Given the description of an element on the screen output the (x, y) to click on. 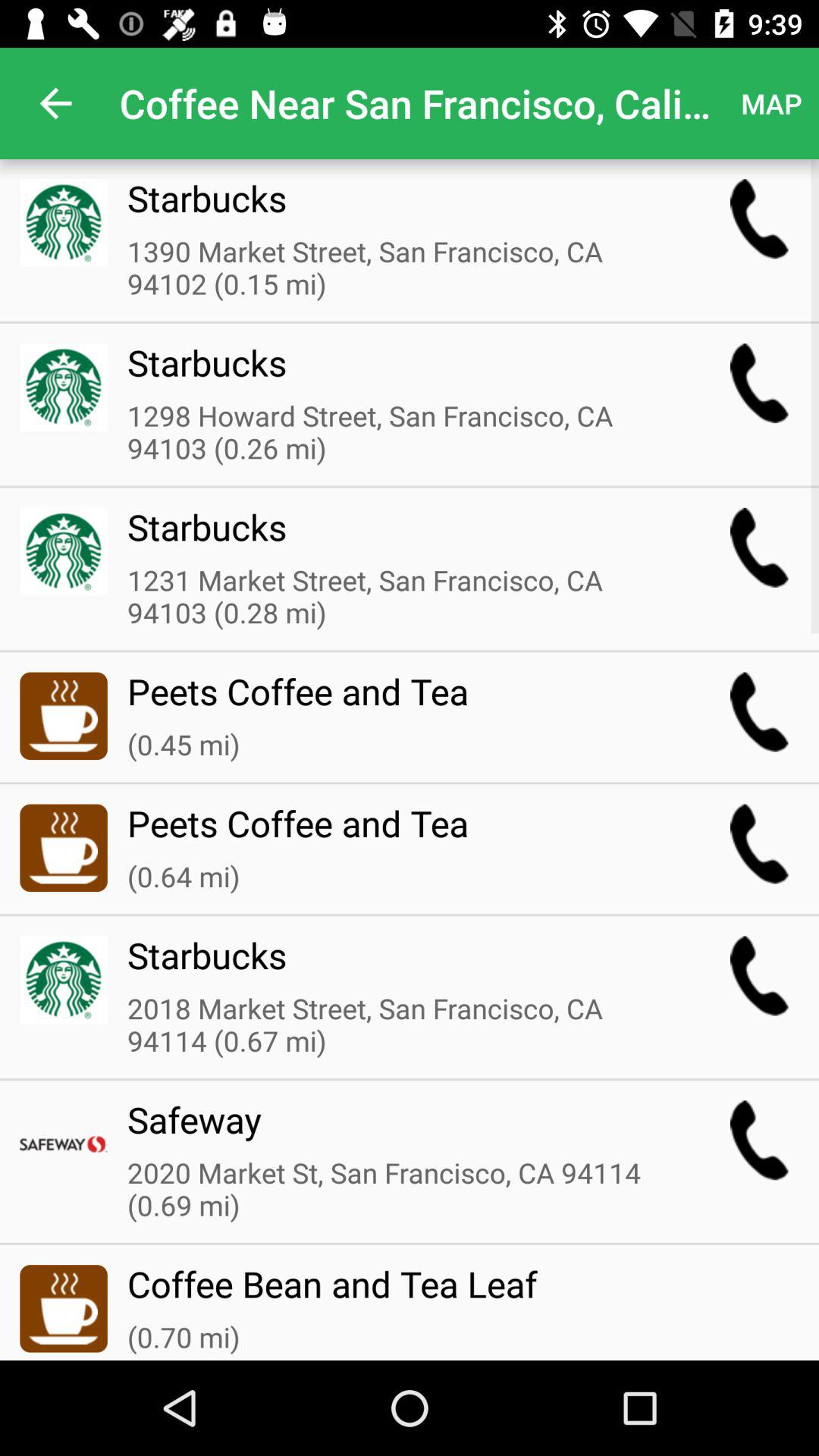
choose the icon above the starbucks (398, 432)
